Given the description of an element on the screen output the (x, y) to click on. 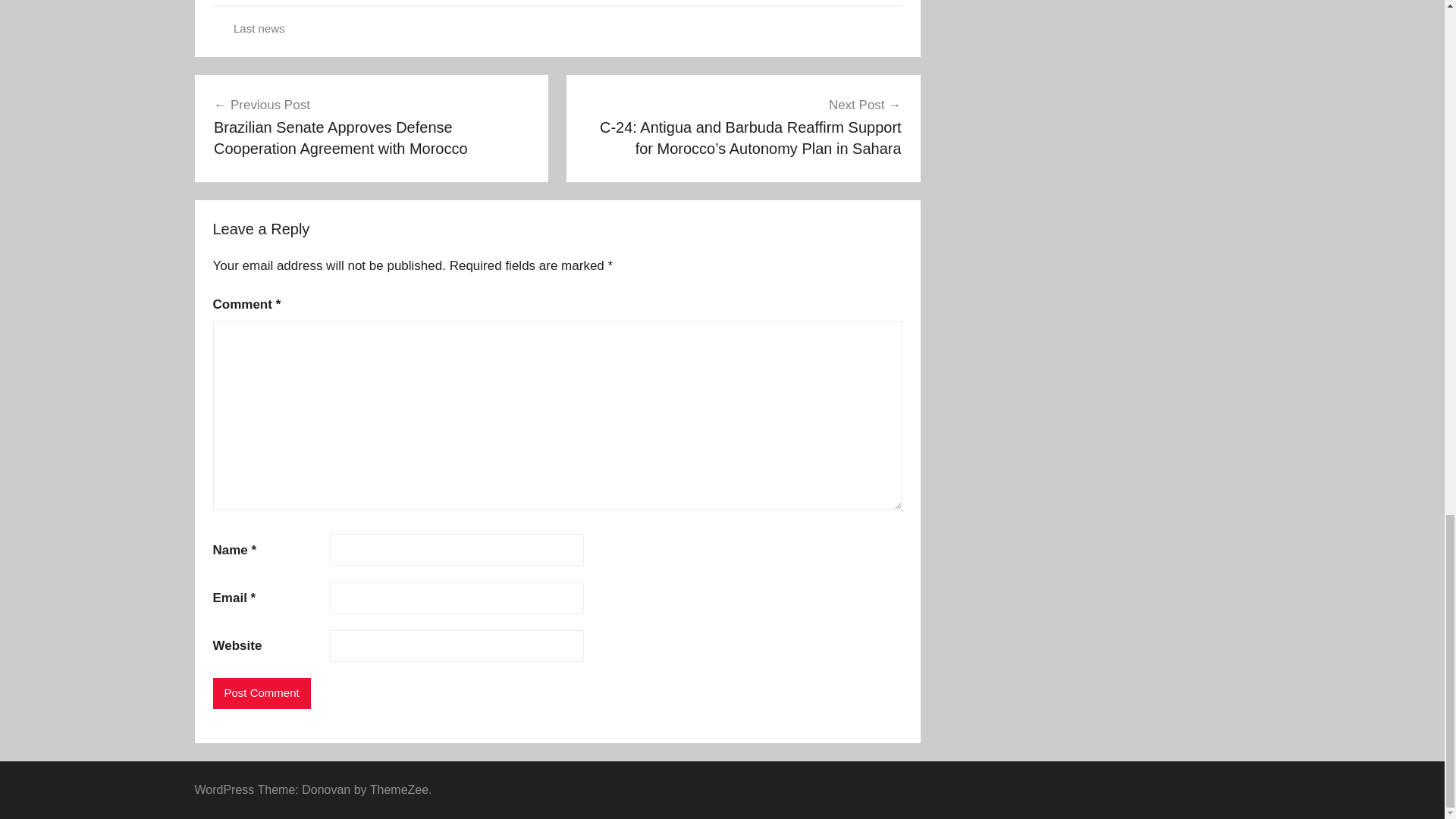
Post Comment (261, 693)
Last news (258, 28)
Post Comment (261, 693)
